Given the description of an element on the screen output the (x, y) to click on. 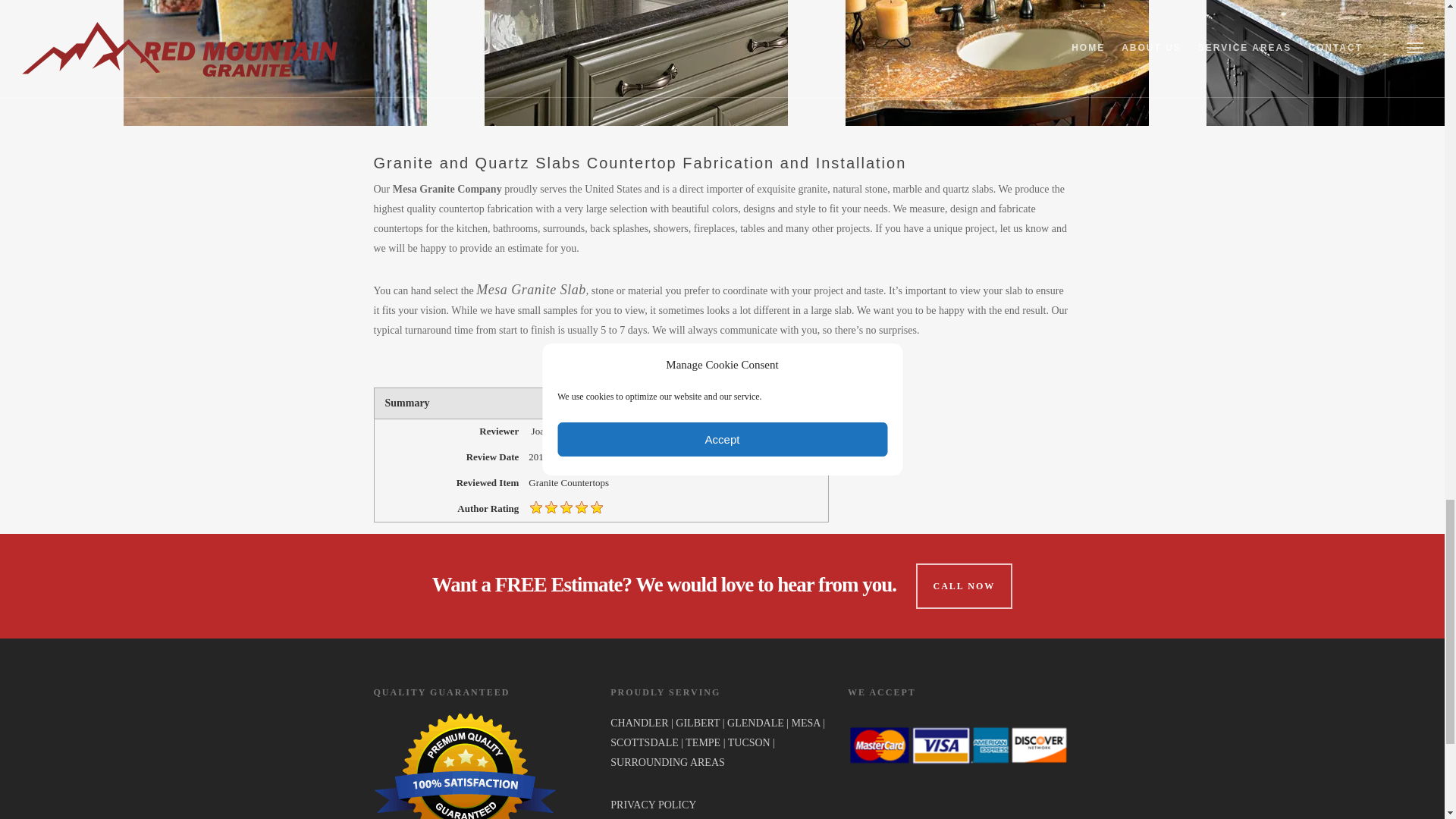
CALL NOW (964, 586)
PRIVACY POLICY (652, 804)
